Given the description of an element on the screen output the (x, y) to click on. 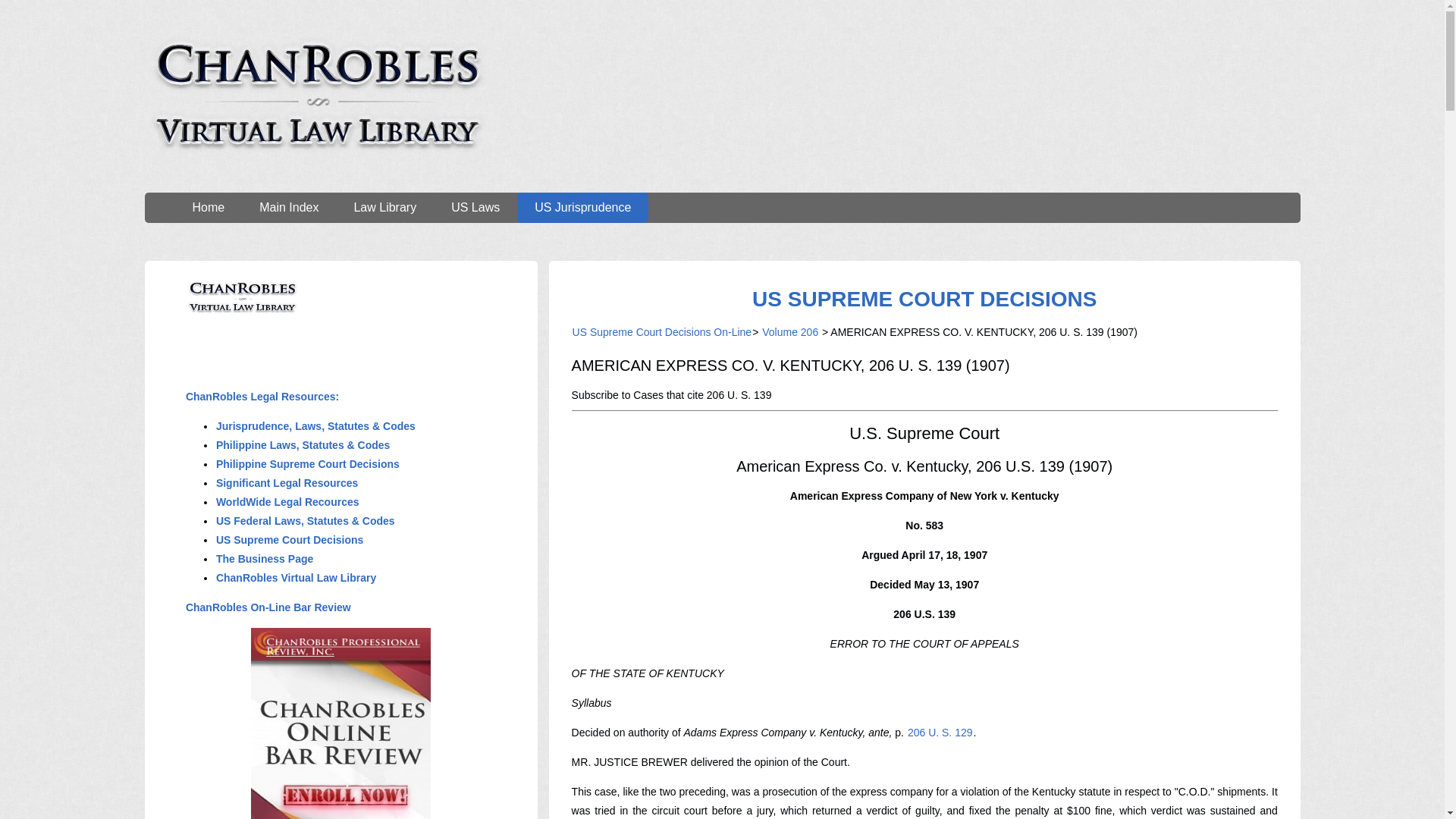
Main Index (288, 207)
ChanRobles On-Line Bar Review (268, 607)
The Business Page (264, 558)
Significant Legal Resources (287, 482)
US Laws (474, 207)
US Jurisprudence (581, 207)
US SUPREME COURT DECISIONS (924, 299)
ChanRobles Legal Resources: (261, 396)
Philippine Supreme Court Decisions (307, 463)
Volume 206 (789, 331)
